Given the description of an element on the screen output the (x, y) to click on. 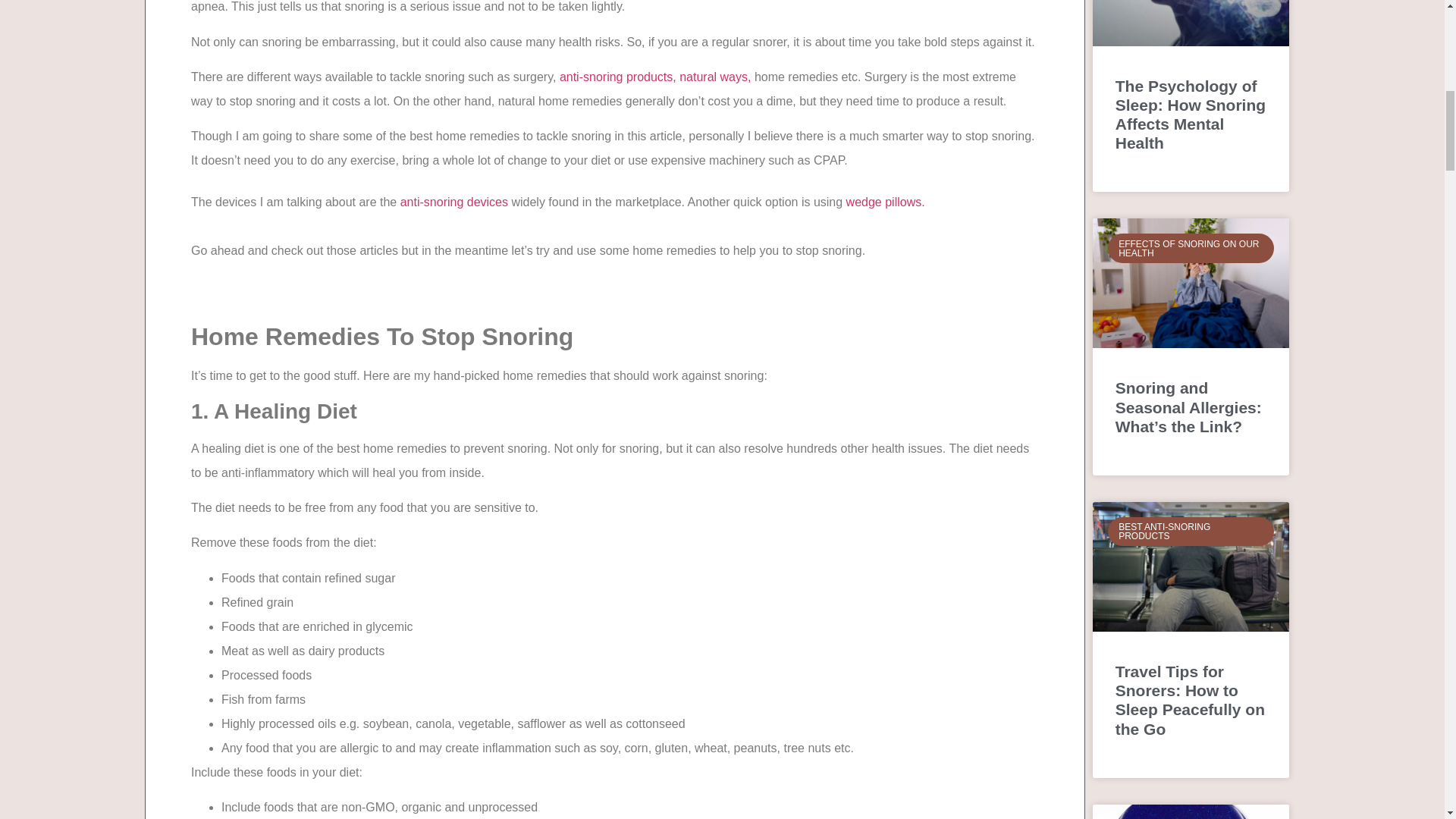
natural ways, (715, 76)
anti-snoring devices (454, 201)
wedge pillows. (884, 201)
anti-snoring products, (618, 76)
